Given the description of an element on the screen output the (x, y) to click on. 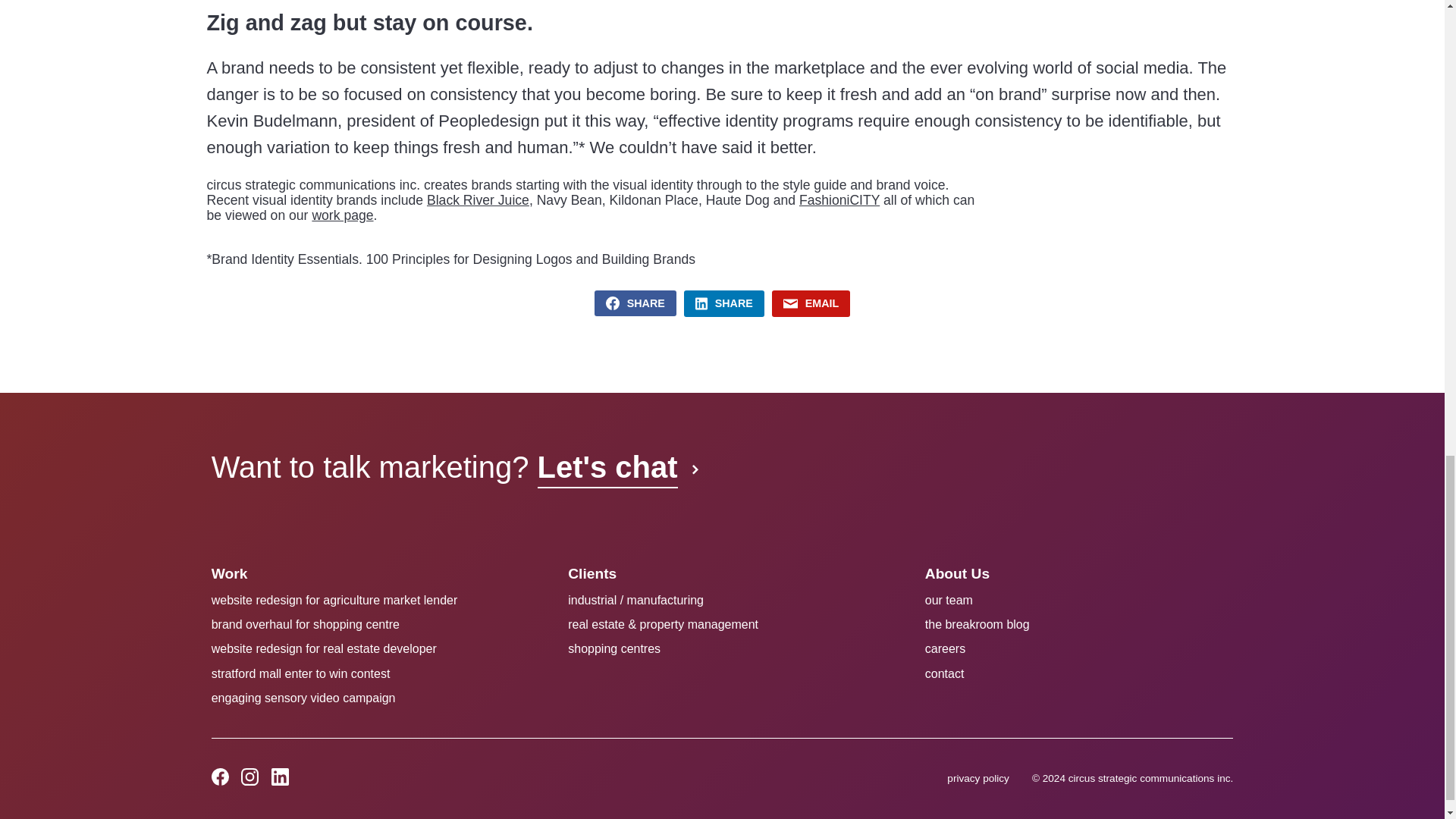
Facebook (221, 776)
SHARE (724, 303)
brand overhaul for shopping centre (304, 624)
EMAIL (810, 303)
Instagram (250, 776)
website redesign for agriculture market lender (334, 599)
website redesign for real estate developer (323, 648)
Let's chat (615, 466)
engaging sensory video campaign (303, 697)
About Us (957, 573)
the breakroom blog (976, 624)
work page (341, 215)
SHARE (635, 303)
Black River Juice (477, 200)
stratford mall enter to win contest (300, 673)
